Given the description of an element on the screen output the (x, y) to click on. 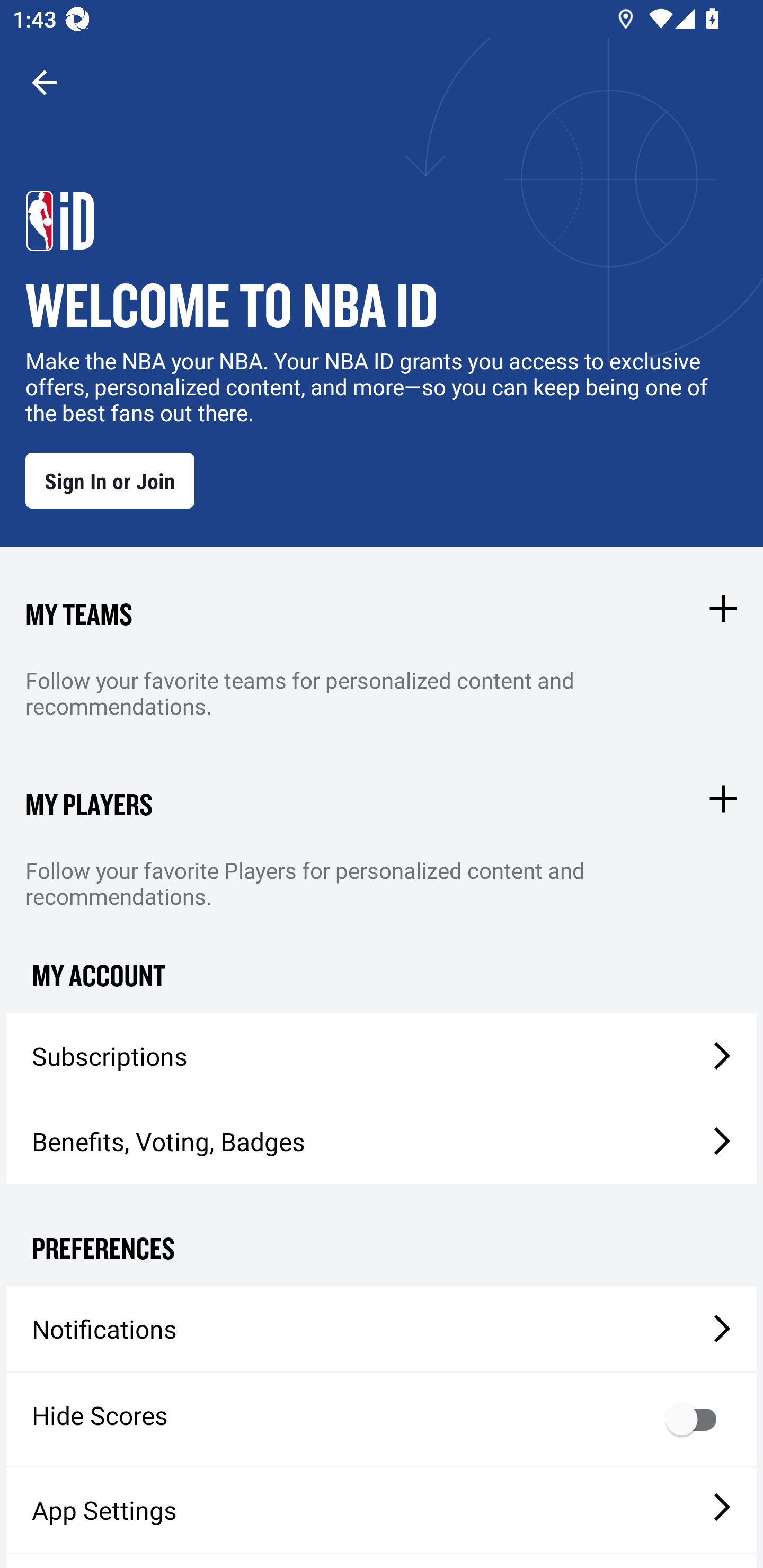
Navigate up (44, 82)
Sign In or Join (109, 480)
Subscriptions (381, 1055)
Benefits, Voting, Badges (381, 1141)
Notifications (381, 1328)
Hide Scores (381, 1419)
App Settings (381, 1509)
